Given the description of an element on the screen output the (x, y) to click on. 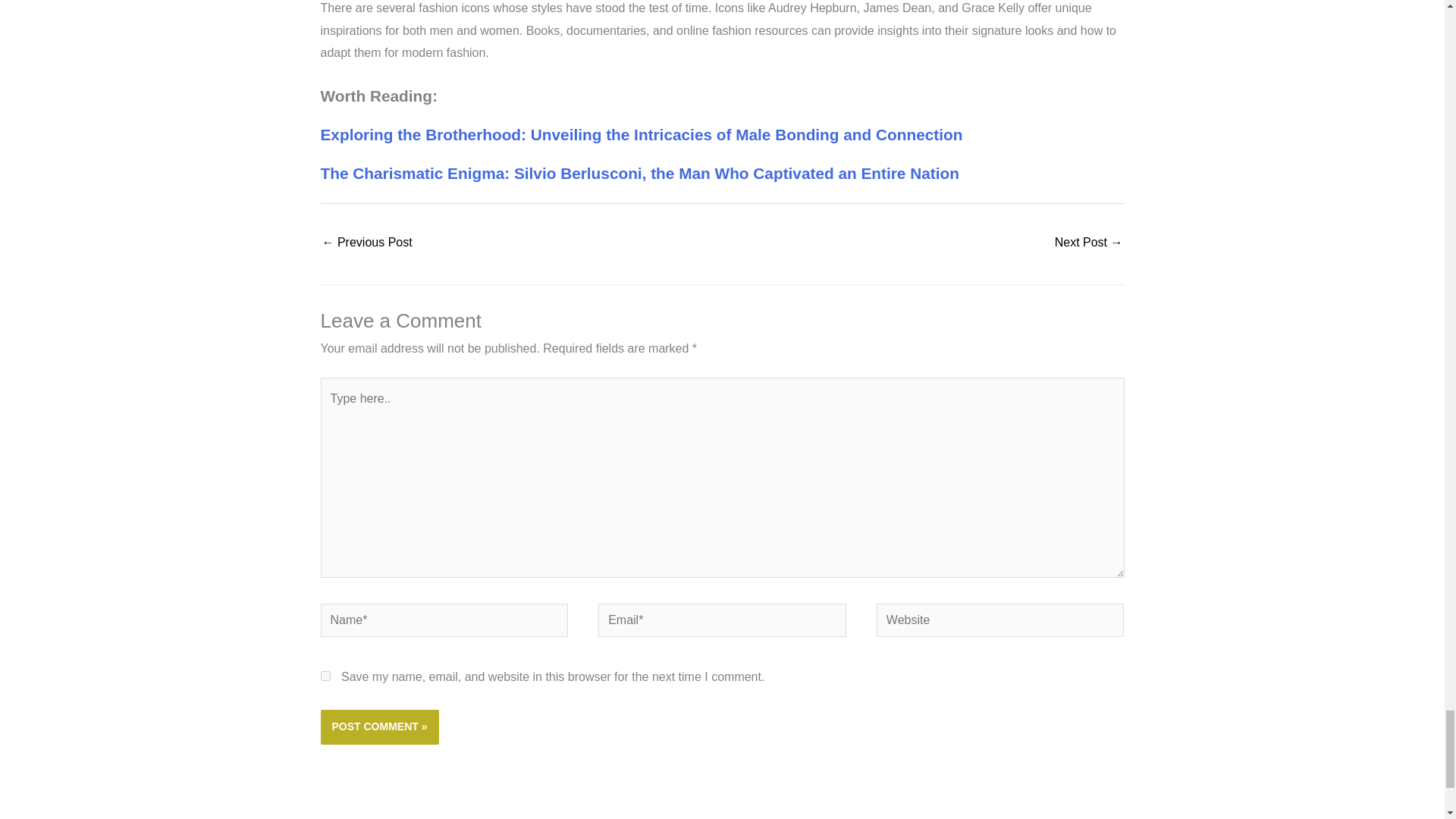
yes (325, 675)
